Given the description of an element on the screen output the (x, y) to click on. 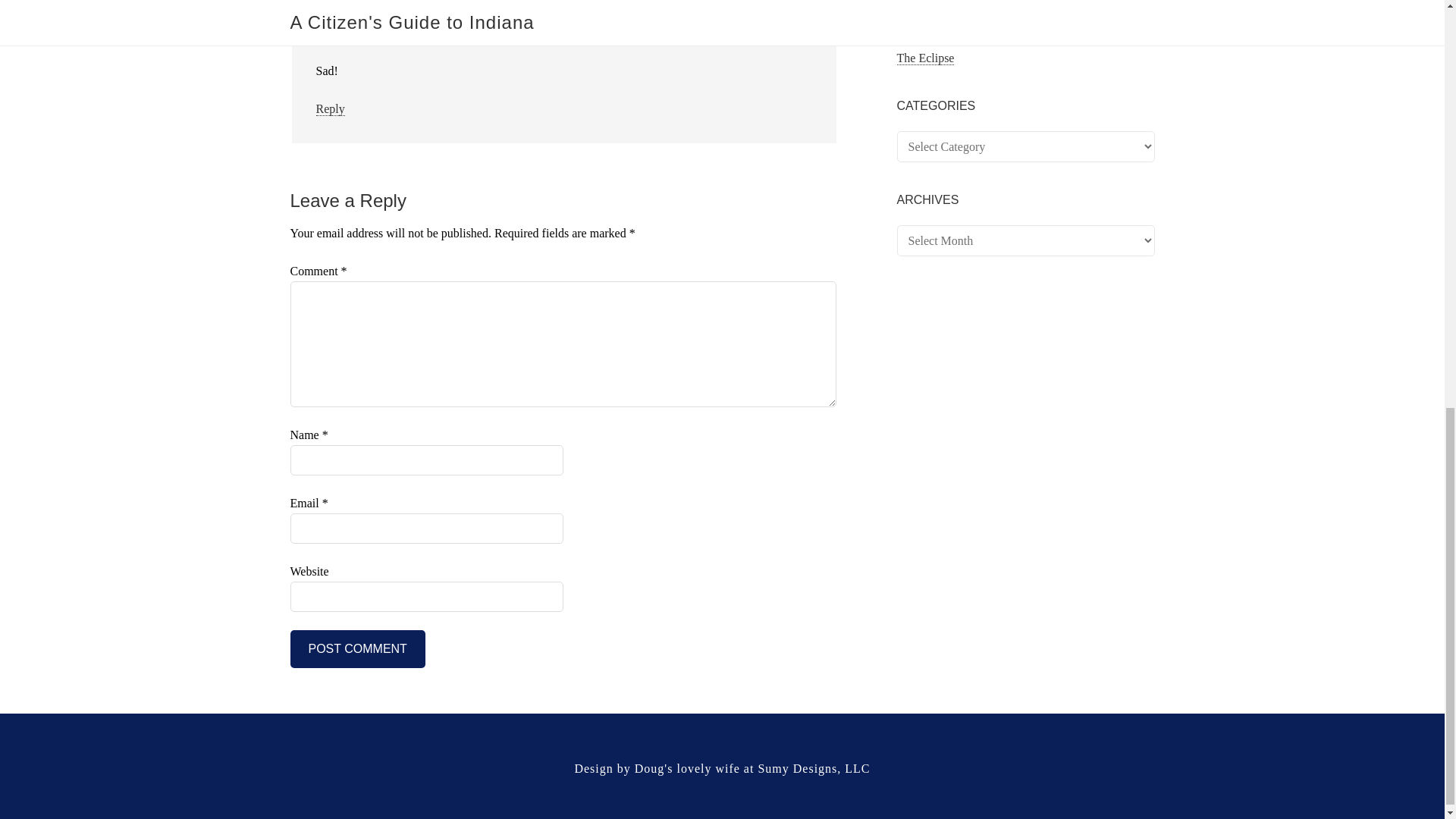
Sumy Designs, LLC (813, 768)
October 12, 2016 at 14:46 -04006 (446, 33)
Reply (329, 109)
The Eclipse (924, 58)
Post Comment (357, 648)
Post Comment (357, 648)
